Given the description of an element on the screen output the (x, y) to click on. 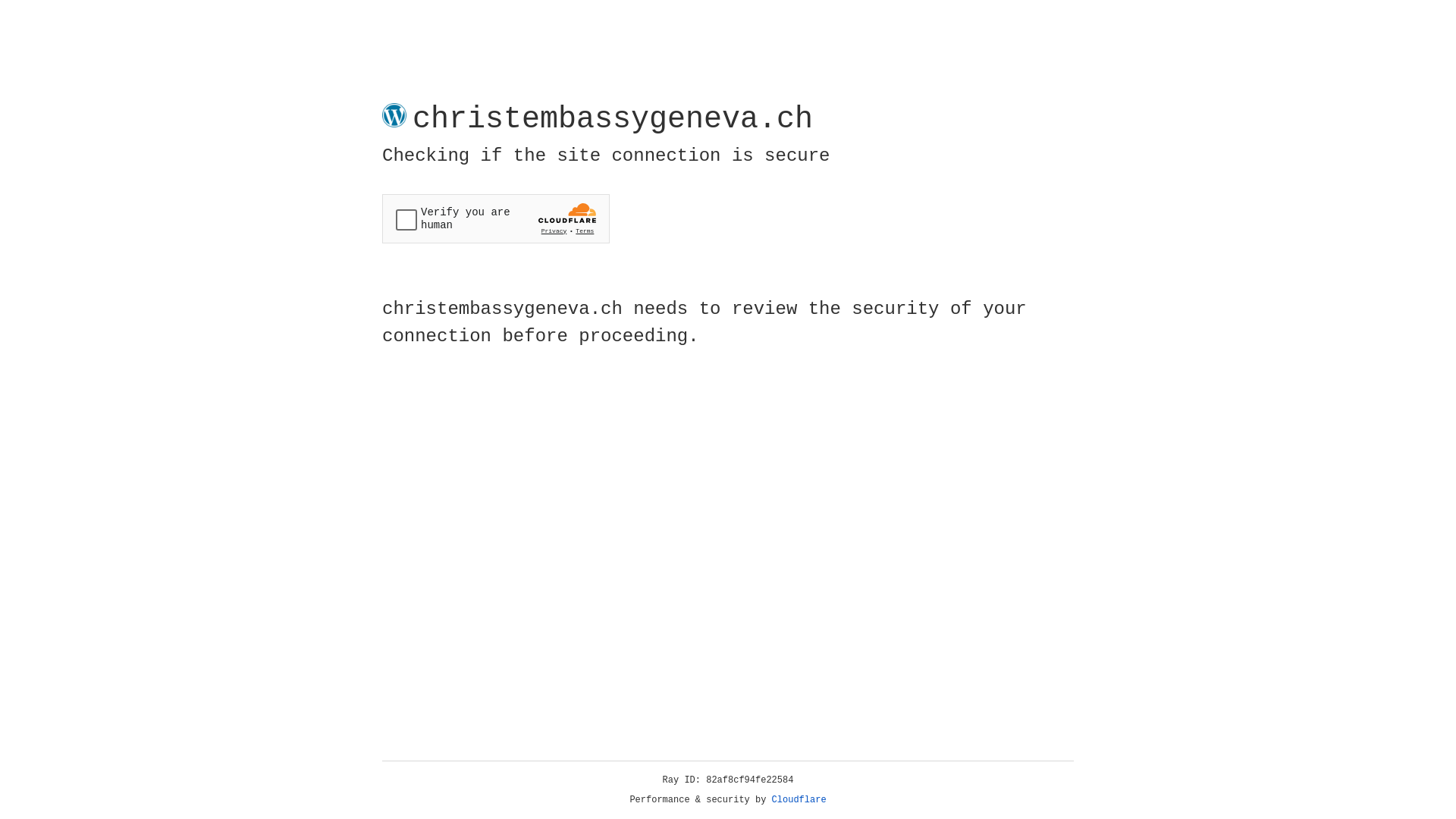
Cloudflare Element type: text (798, 799)
Widget containing a Cloudflare security challenge Element type: hover (495, 218)
